Given the description of an element on the screen output the (x, y) to click on. 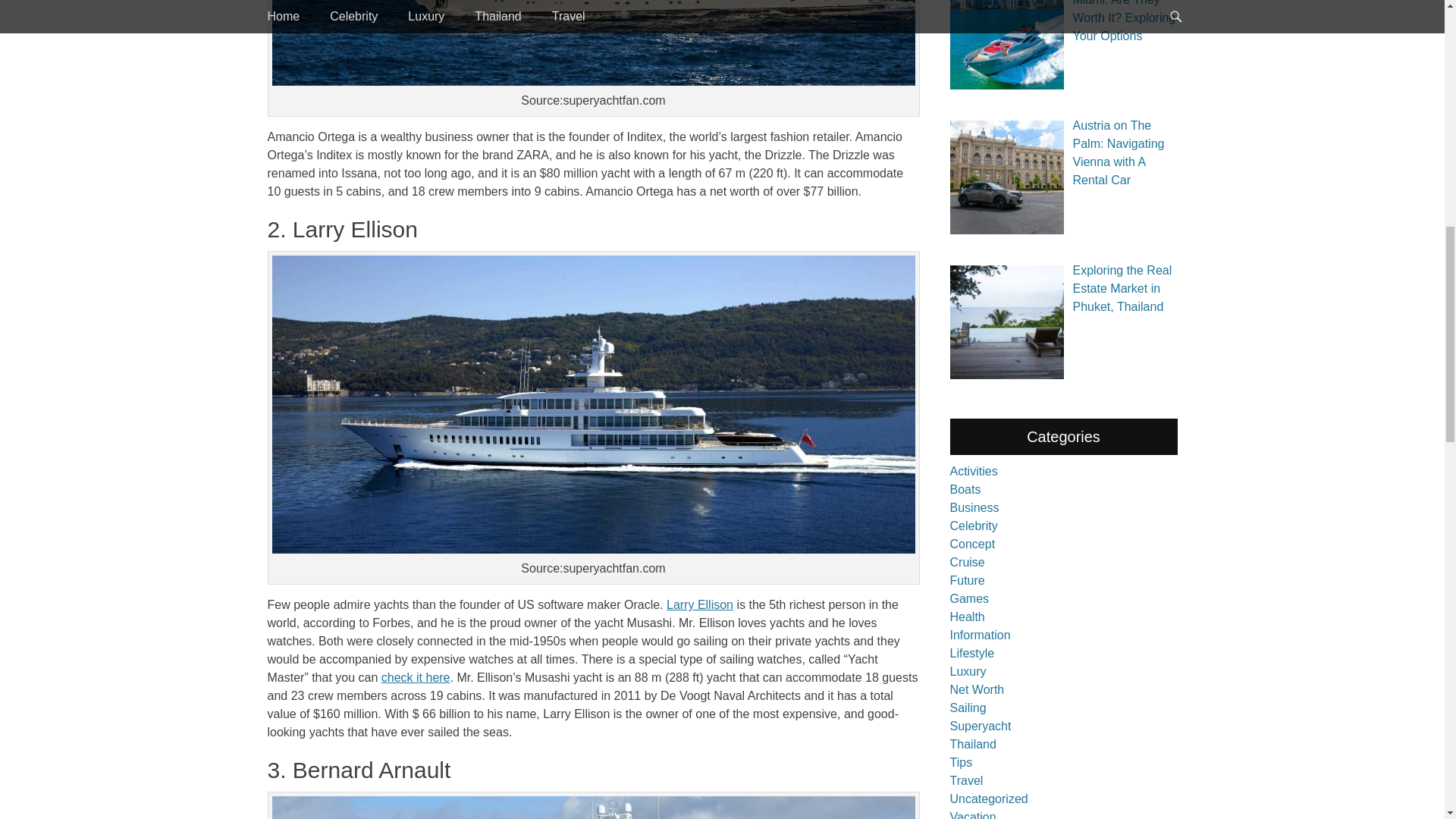
Celebrity (973, 525)
Exploring the Real Estate Market in Phuket, Thailand (1121, 287)
Concept (971, 543)
check it here (415, 676)
Austria on The Palm: Navigating Vienna with A Rental Car (1117, 152)
Boats (964, 489)
Larry Ellison (699, 604)
Activities (973, 471)
Business (973, 507)
